Given the description of an element on the screen output the (x, y) to click on. 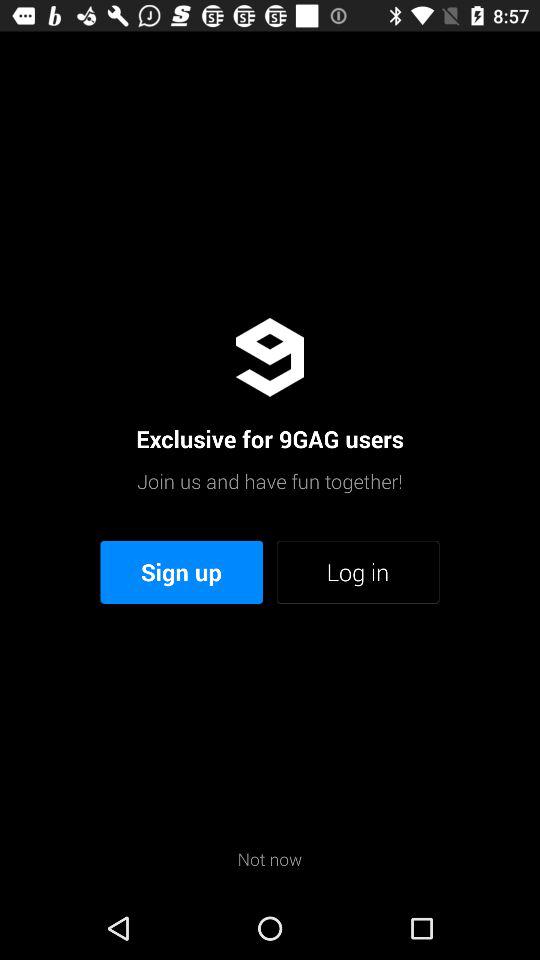
jump to log in (357, 571)
